Given the description of an element on the screen output the (x, y) to click on. 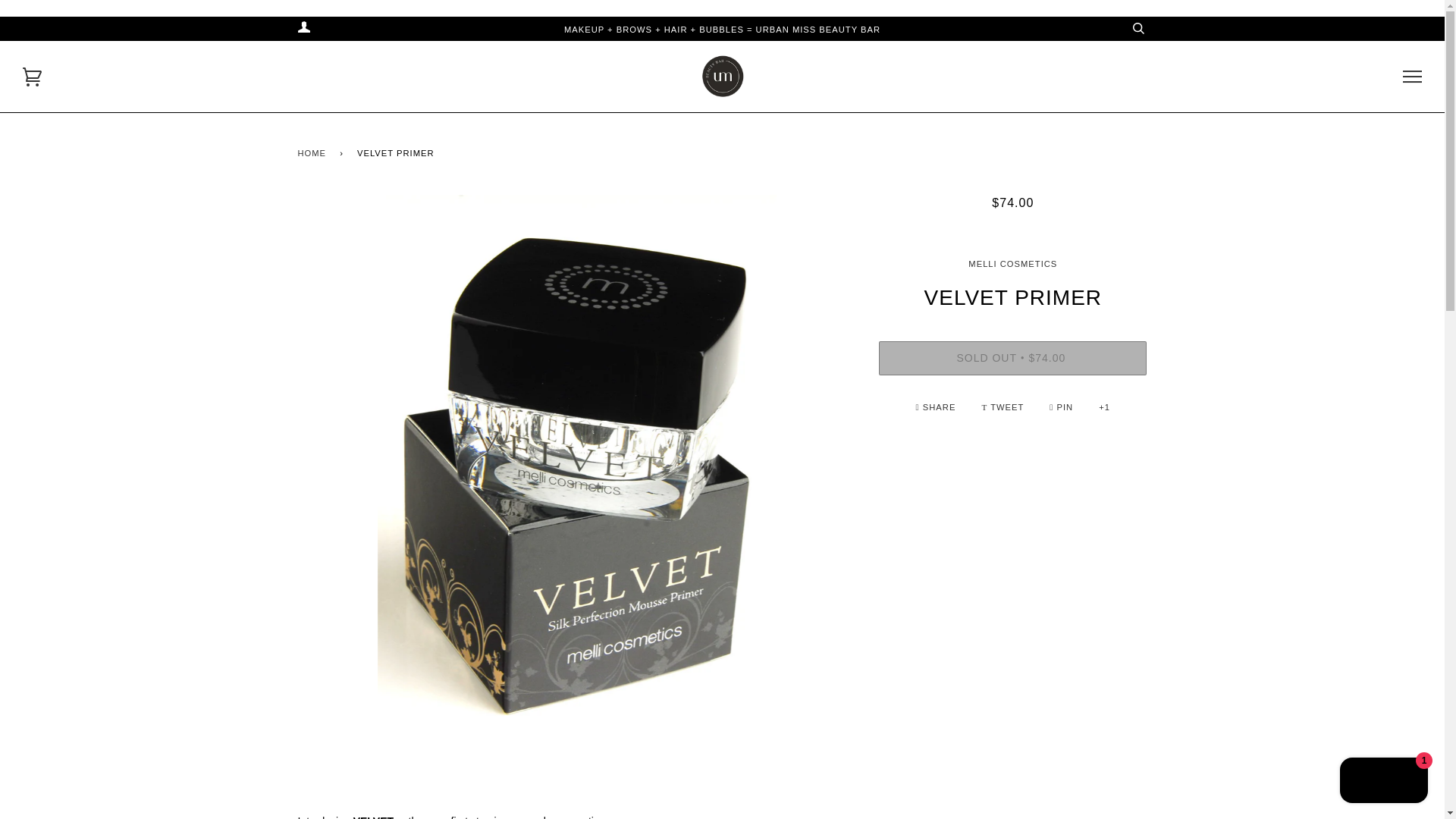
Melli Cosmetics (1012, 263)
Back to the frontpage (314, 153)
Shopify online store chat (1383, 781)
